Given the description of an element on the screen output the (x, y) to click on. 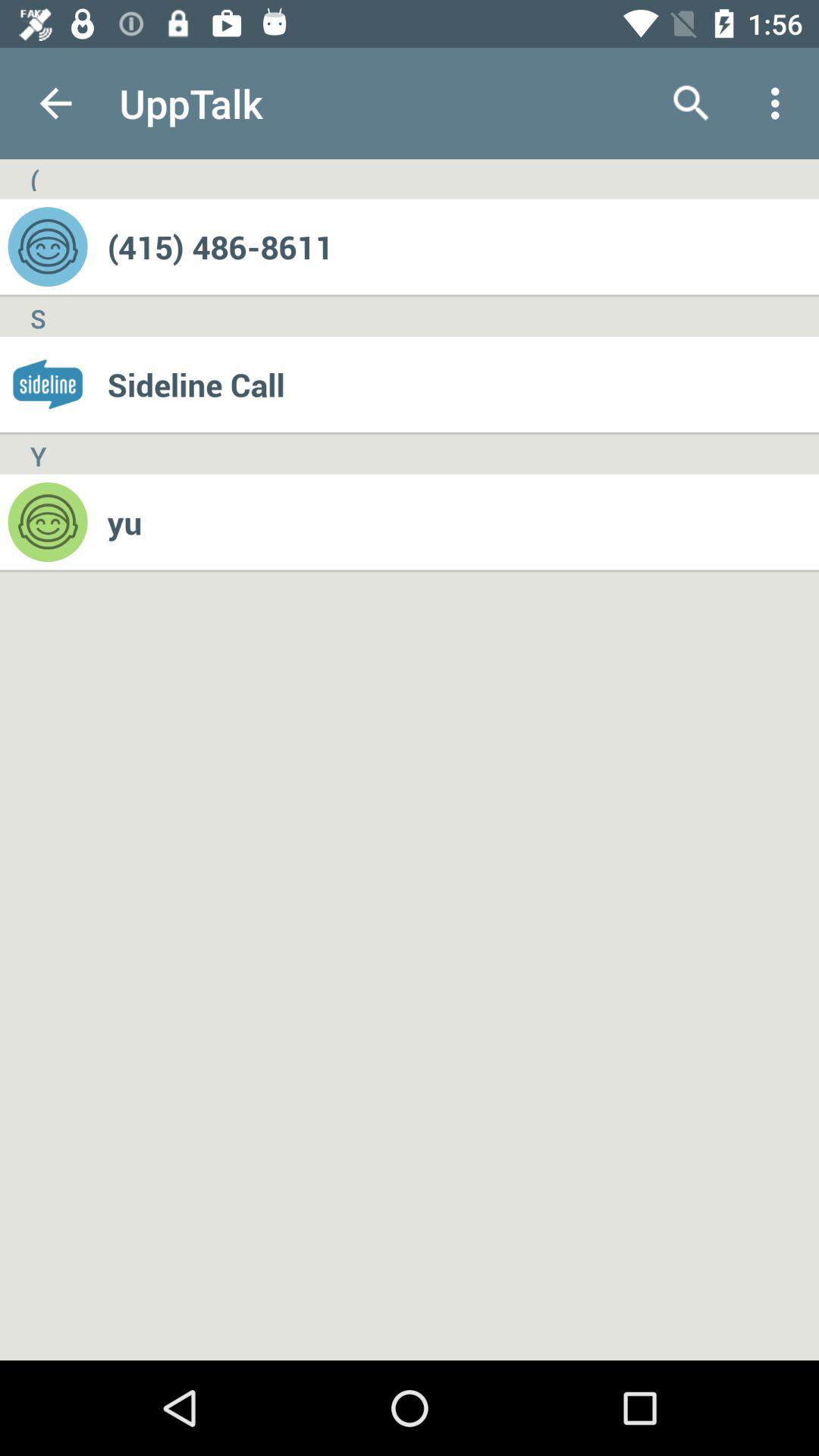
swipe to sideline call item (463, 384)
